Given the description of an element on the screen output the (x, y) to click on. 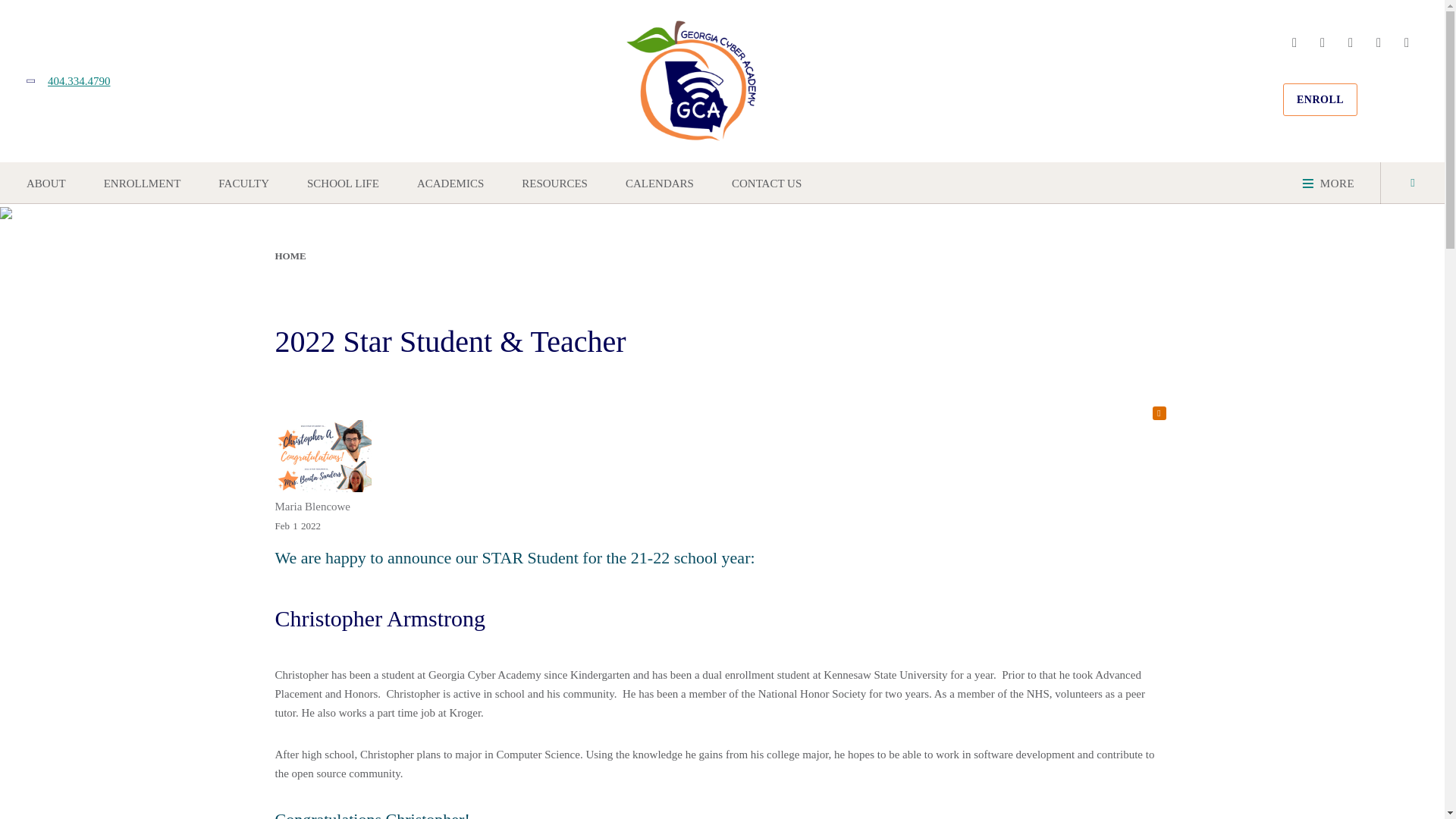
Alerts (1159, 413)
